Given the description of an element on the screen output the (x, y) to click on. 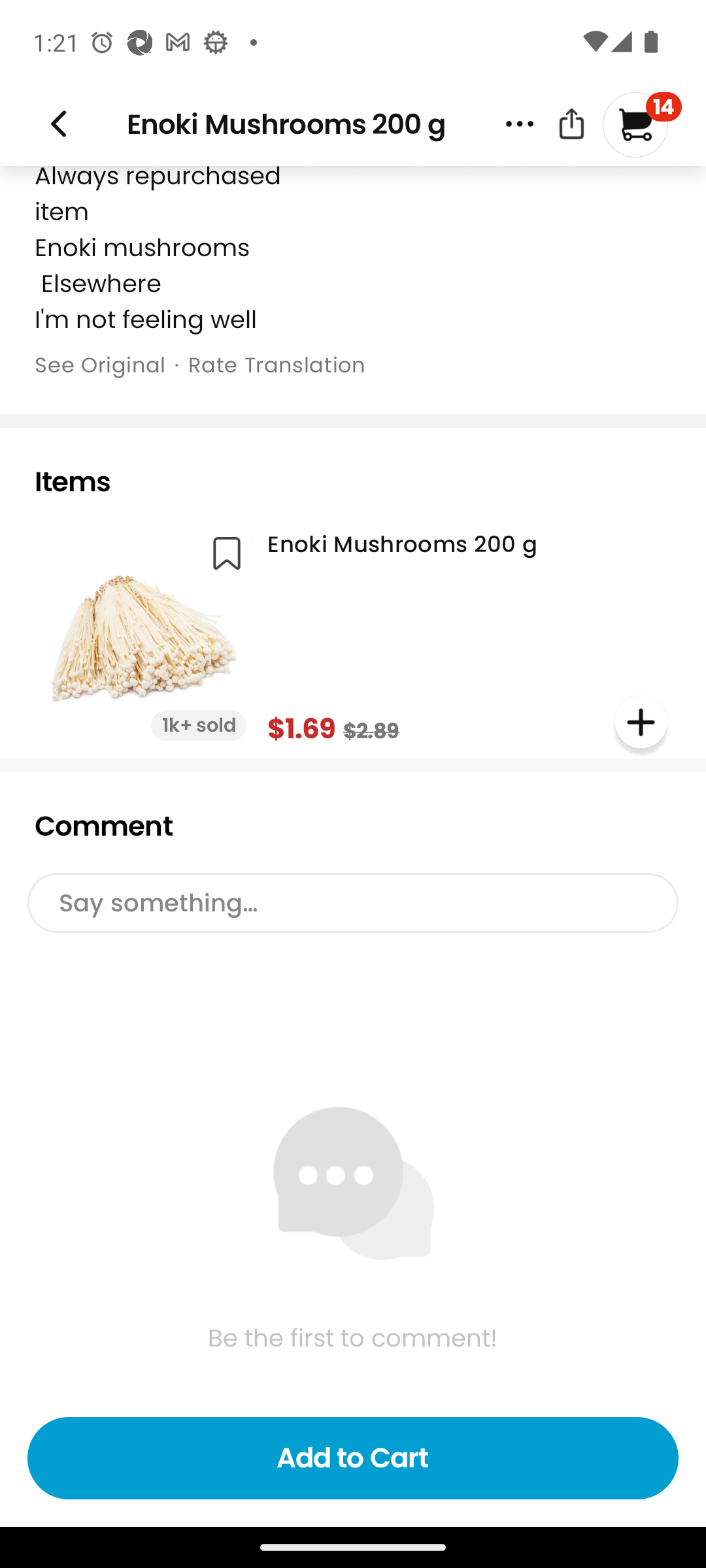
14 (641, 124)
See Original (99, 364)
Rate Translation (276, 364)
Enoki Mushrooms 200 g 1k+ sold $1.69 $2.89 (350, 636)
Say something… Be the first to comment! (353, 1186)
Add to Cart (352, 1458)
